Given the description of an element on the screen output the (x, y) to click on. 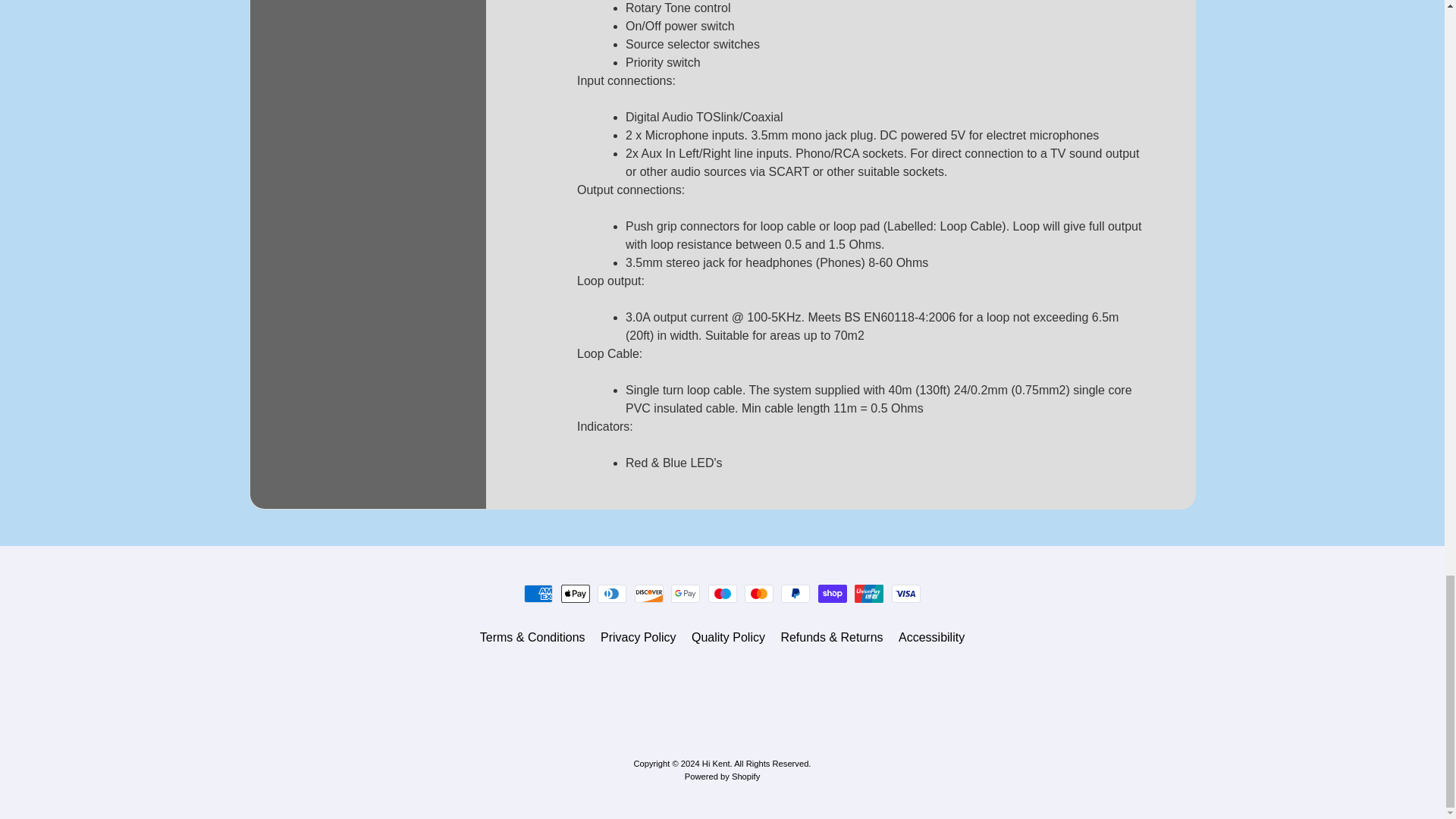
Union Pay (868, 593)
Discover (648, 593)
Apple Pay (574, 593)
PayPal (794, 593)
Maestro (721, 593)
Google Pay (685, 593)
American Express (538, 593)
Shop Pay (832, 593)
Diners Club (611, 593)
Mastercard (758, 593)
